Given the description of an element on the screen output the (x, y) to click on. 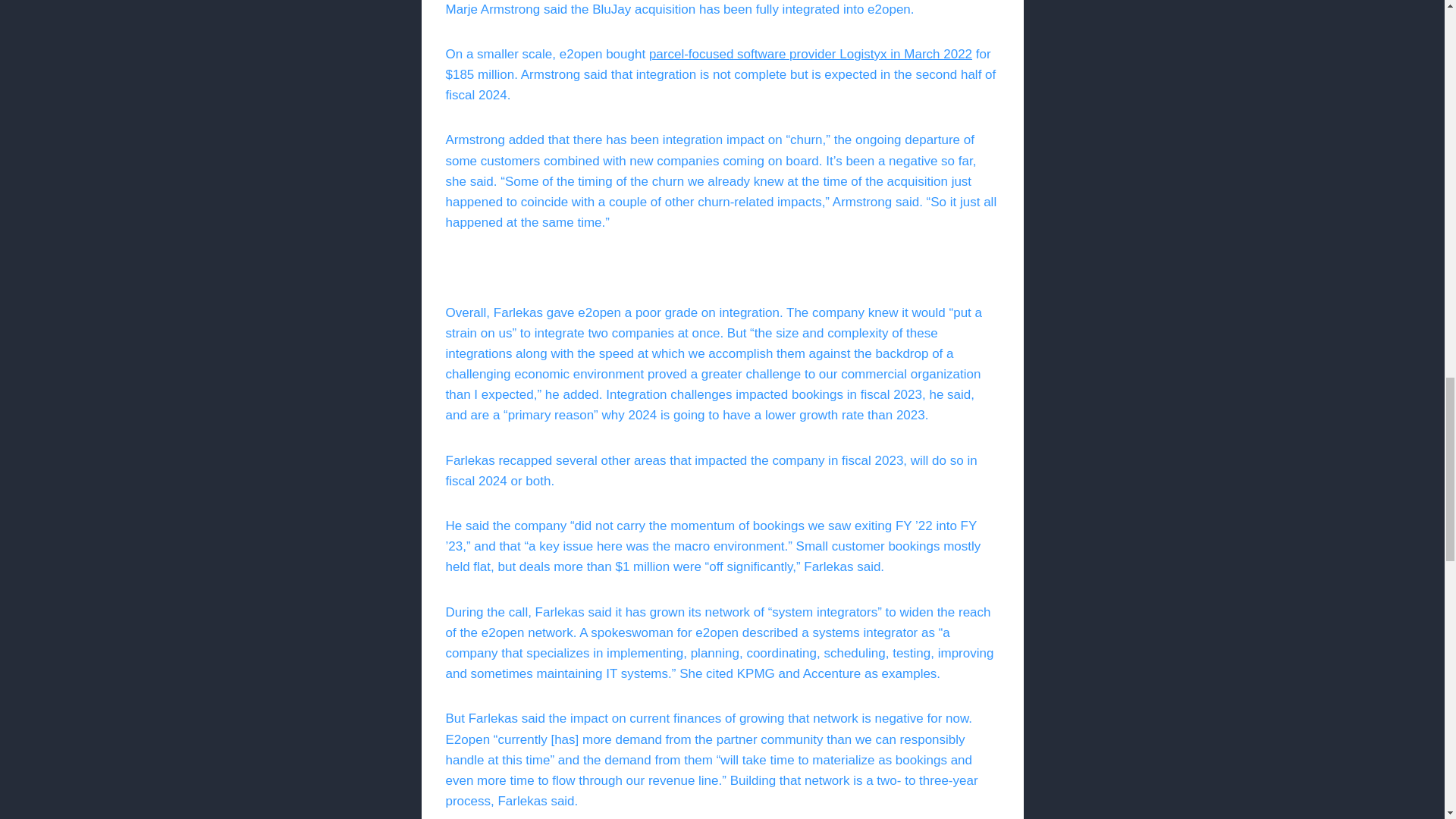
parcel-focused software provider Logistyx in March 2022 (810, 53)
